Given the description of an element on the screen output the (x, y) to click on. 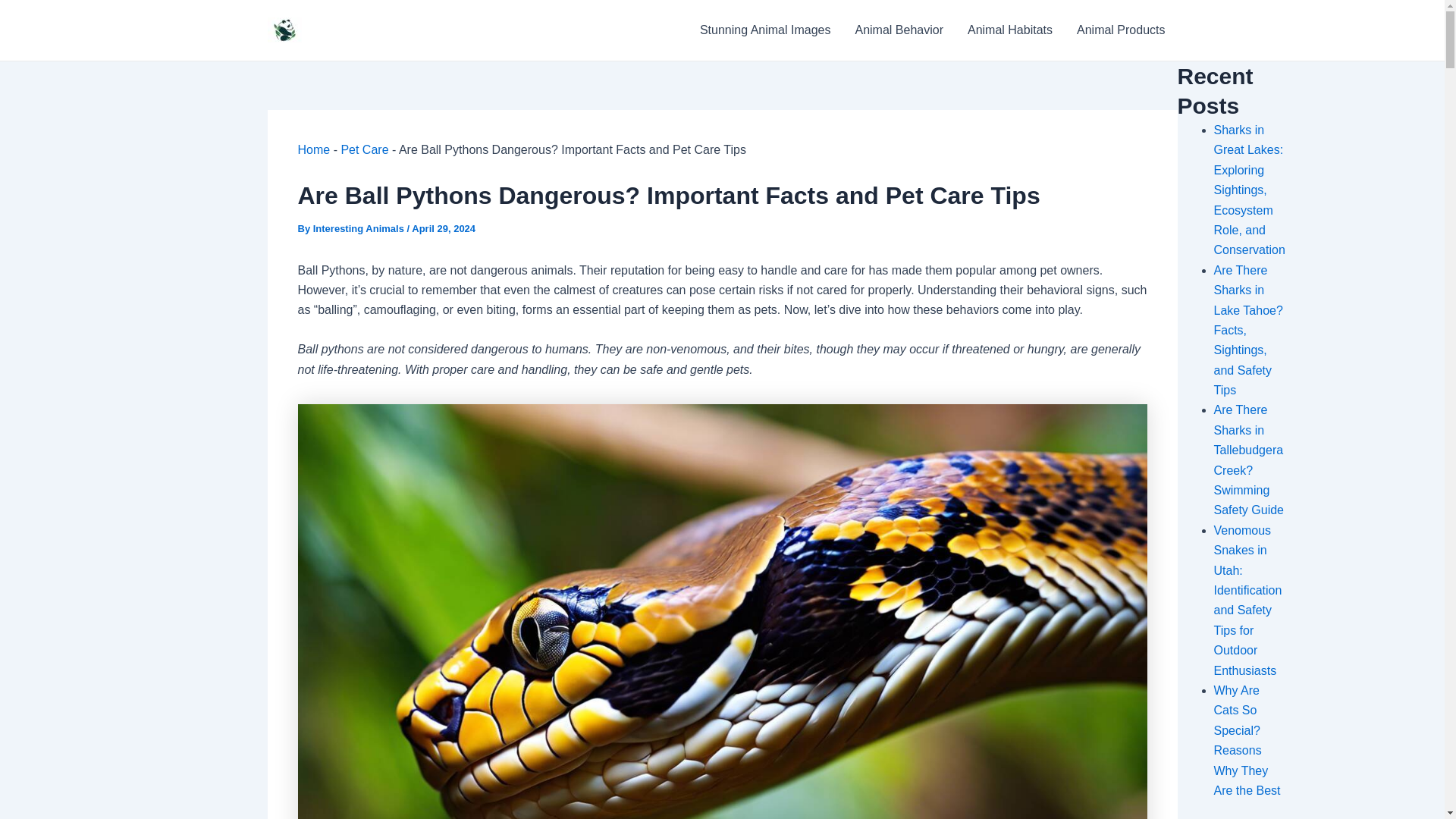
Animal Behavior (899, 30)
Pet Care (364, 149)
Interesting Animals (360, 228)
Home (313, 149)
View all posts by Interesting Animals (360, 228)
Animal Products (1120, 30)
Animal Habitats (1009, 30)
Stunning Animal Images (765, 30)
